Given the description of an element on the screen output the (x, y) to click on. 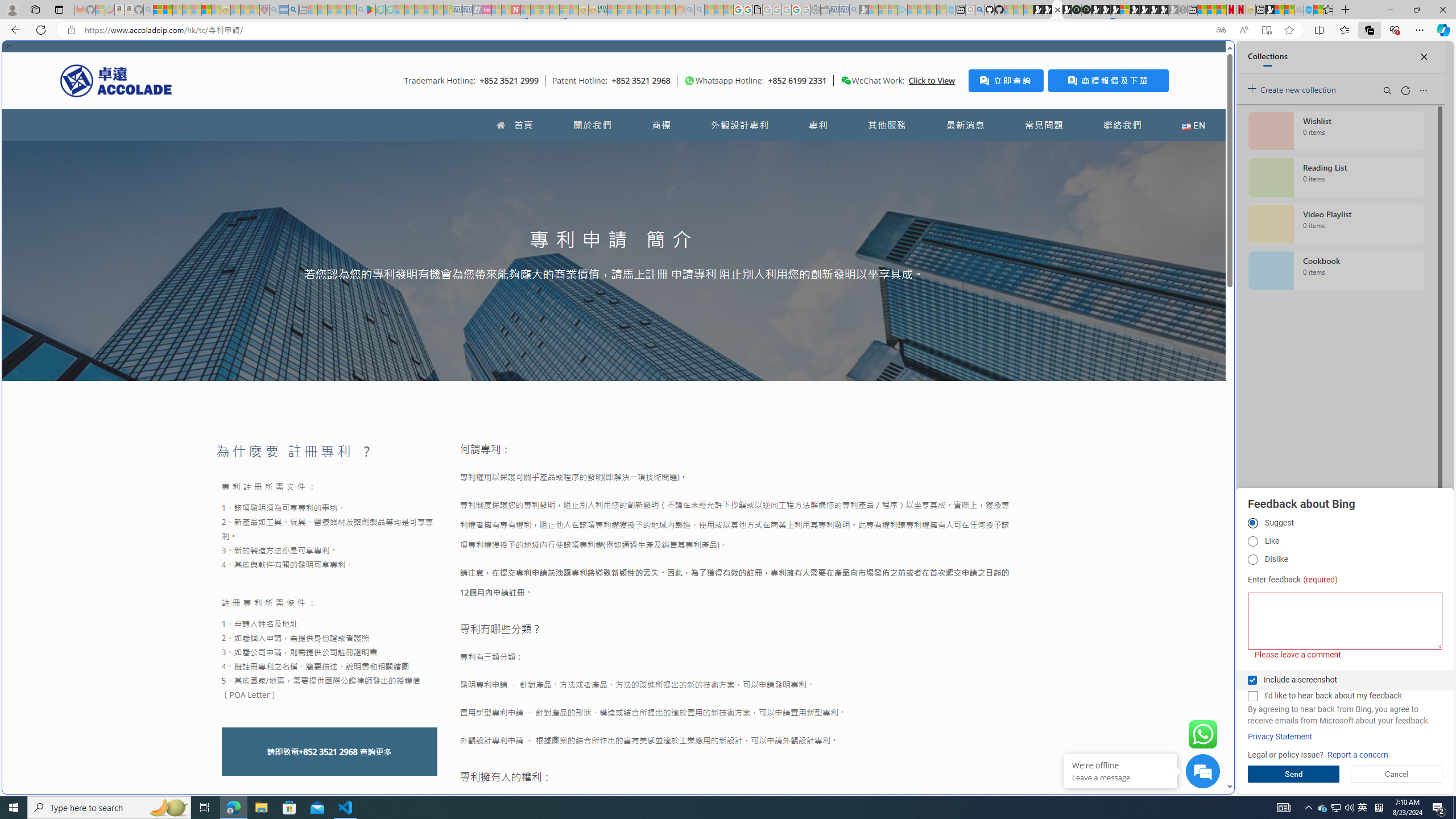
Latest Politics News & Archive | Newsweek.com - Sleeping (515, 9)
Report a concern (1358, 755)
Frequently visited (965, 151)
Wallet - Sleeping (824, 9)
Services - Maintenance | Sky Blue Bikes - Sky Blue Bikes (1307, 9)
Play Zoo Boom in your browser | Games from Microsoft Start (1047, 9)
Home | Sky Blue Bikes - Sky Blue Bikes (1118, 242)
Kinda Frugal - MSN - Sleeping (651, 9)
